Given the description of an element on the screen output the (x, y) to click on. 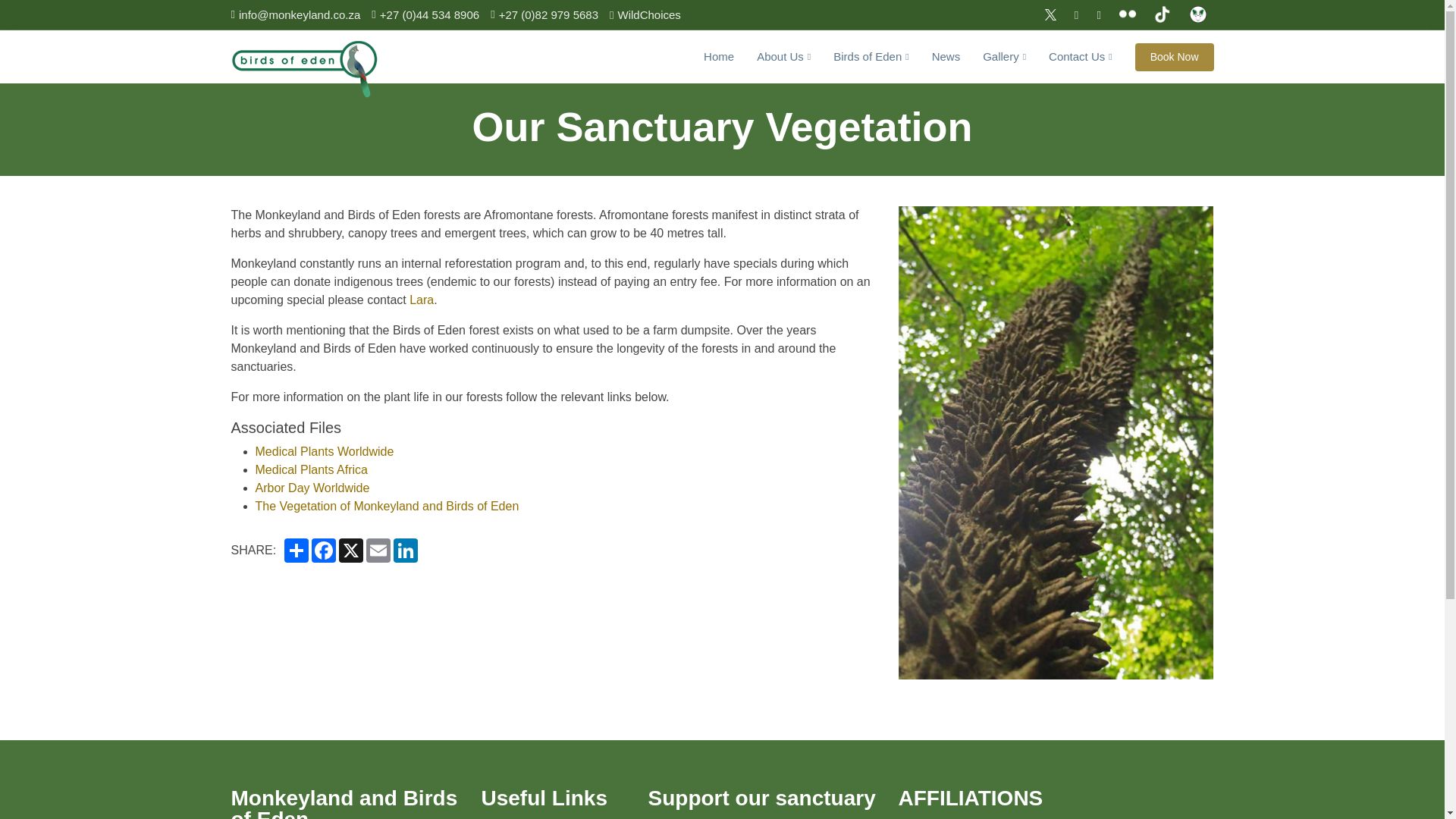
Birds of Eden (859, 56)
Gallery (992, 56)
Home (707, 56)
About Us (771, 56)
News (934, 56)
